Given the description of an element on the screen output the (x, y) to click on. 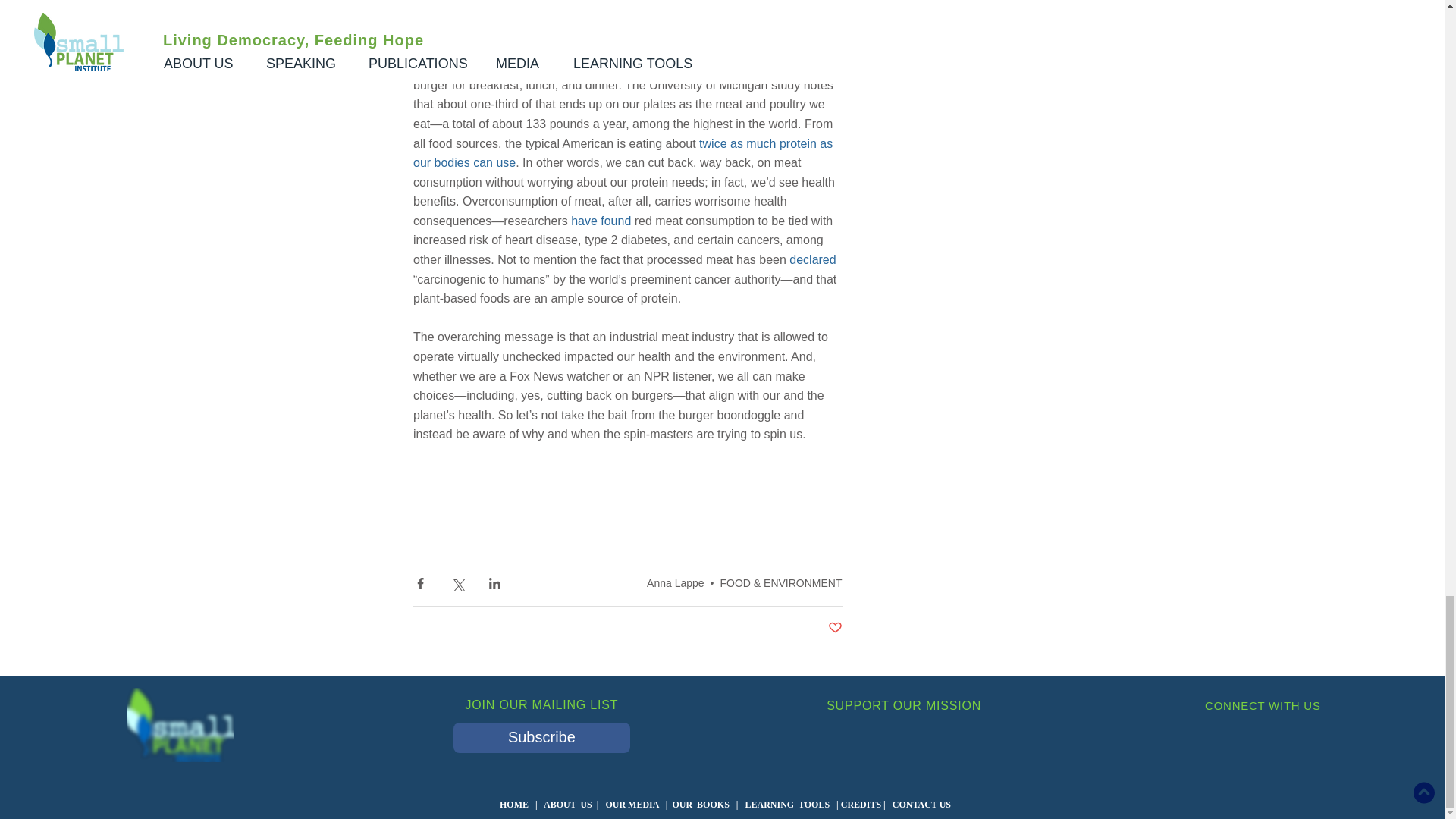
twice as much protein as our bodies can use (623, 152)
USDA estimates (734, 26)
have found (600, 220)
declared (812, 259)
